Given the description of an element on the screen output the (x, y) to click on. 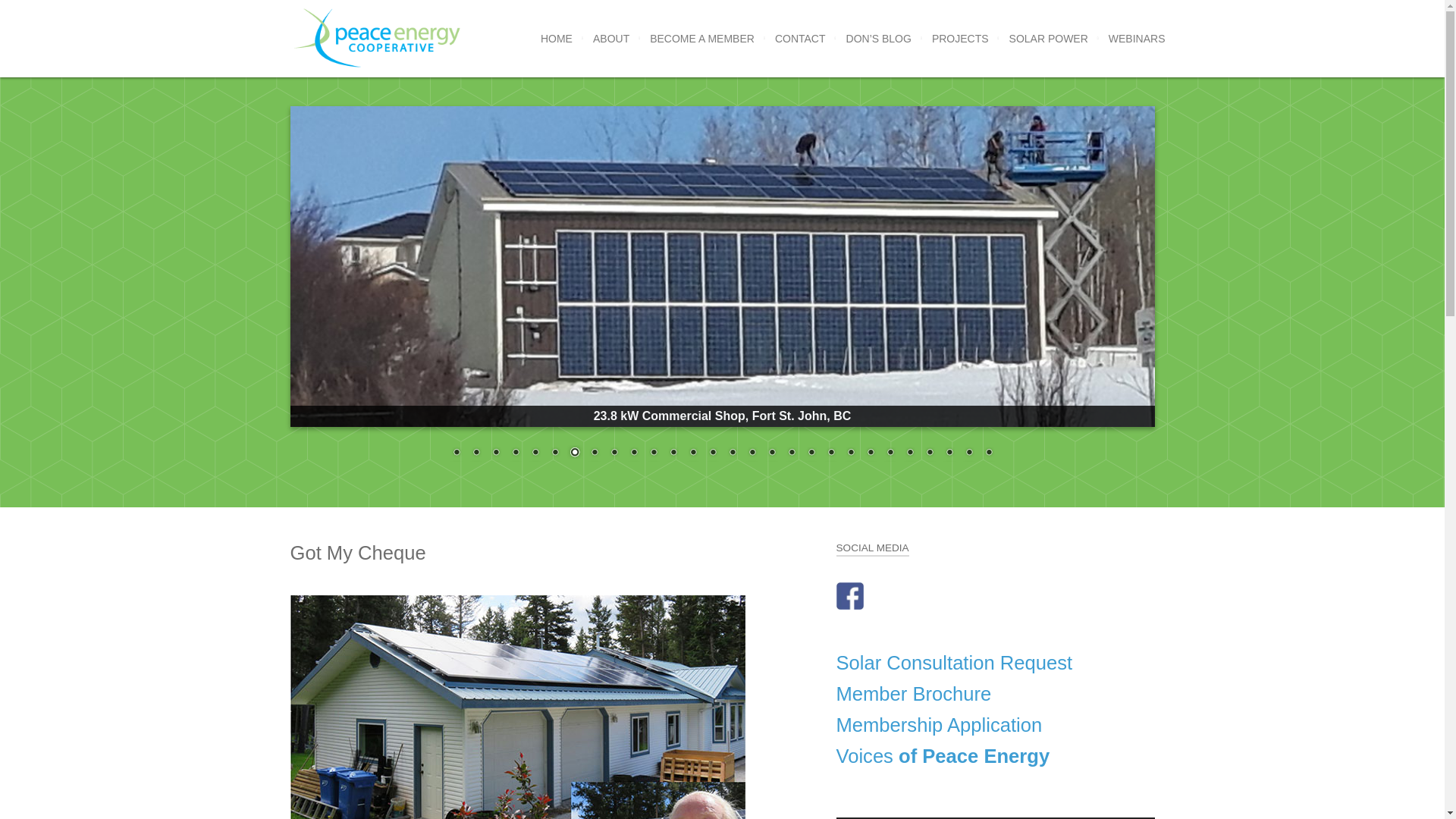
ABOUT (611, 38)
PROJECTS (959, 38)
CONTACT (799, 38)
BECOME A MEMBER (701, 38)
HOME (555, 38)
